Given the description of an element on the screen output the (x, y) to click on. 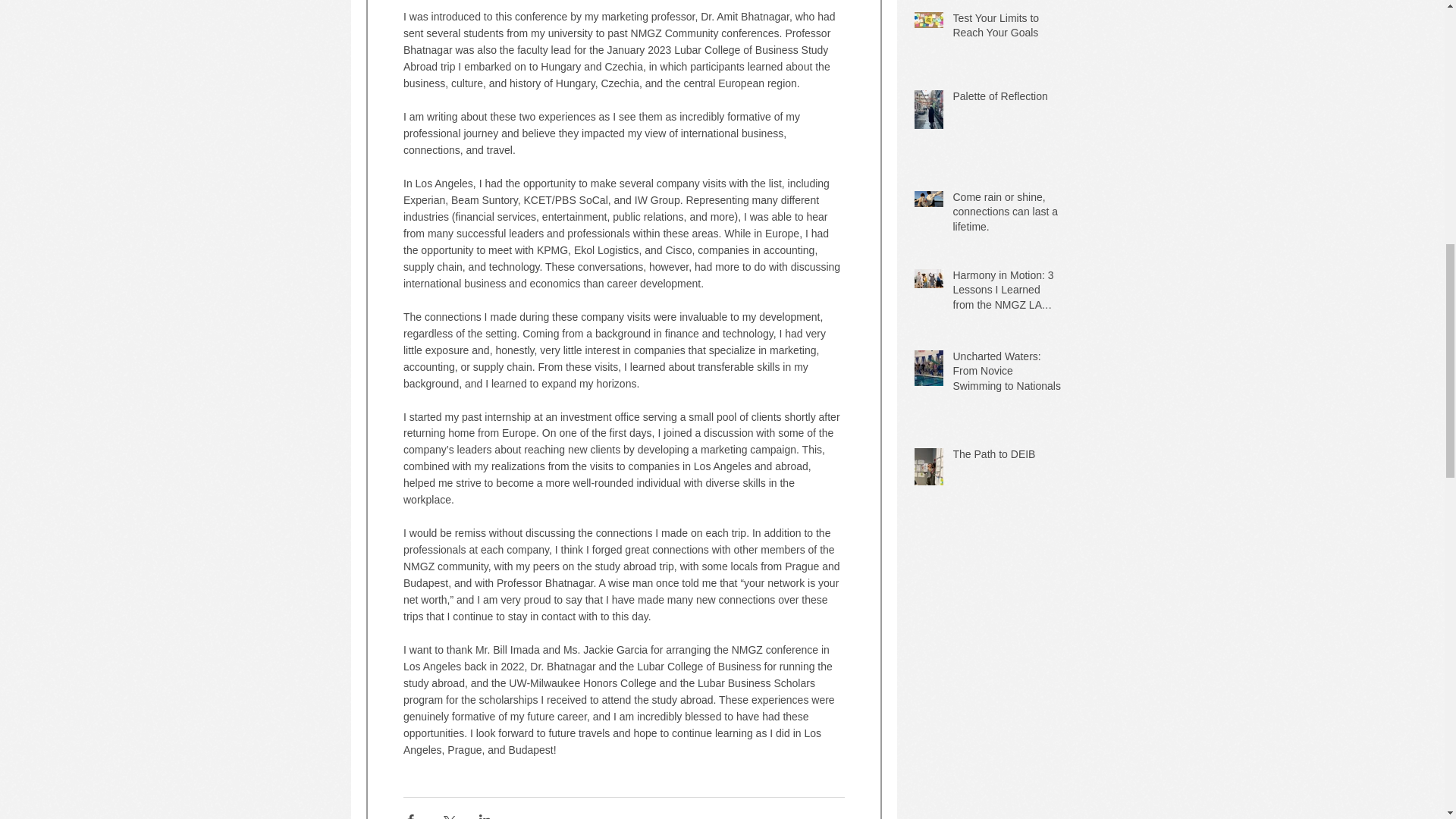
Uncharted Waters: From Novice Swimming to Nationals (1006, 374)
Test Your Limits to Reach Your Goals (1006, 28)
Come rain or shine, connections can last a lifetime. (1006, 215)
Palette of Reflection (1006, 99)
